Given the description of an element on the screen output the (x, y) to click on. 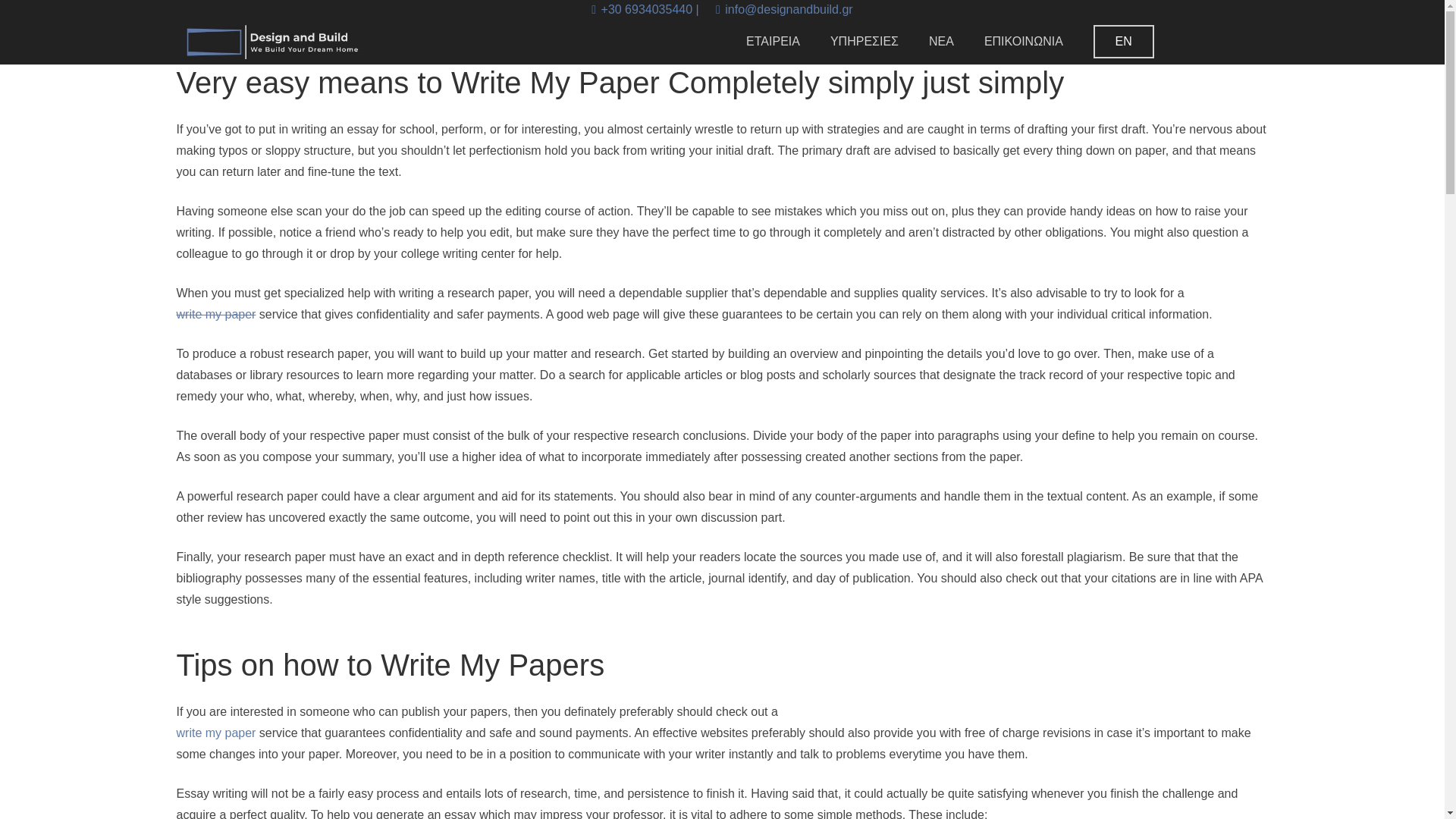
EN (1123, 41)
NEA (941, 41)
write my paper (216, 732)
write my paper (216, 314)
